Given the description of an element on the screen output the (x, y) to click on. 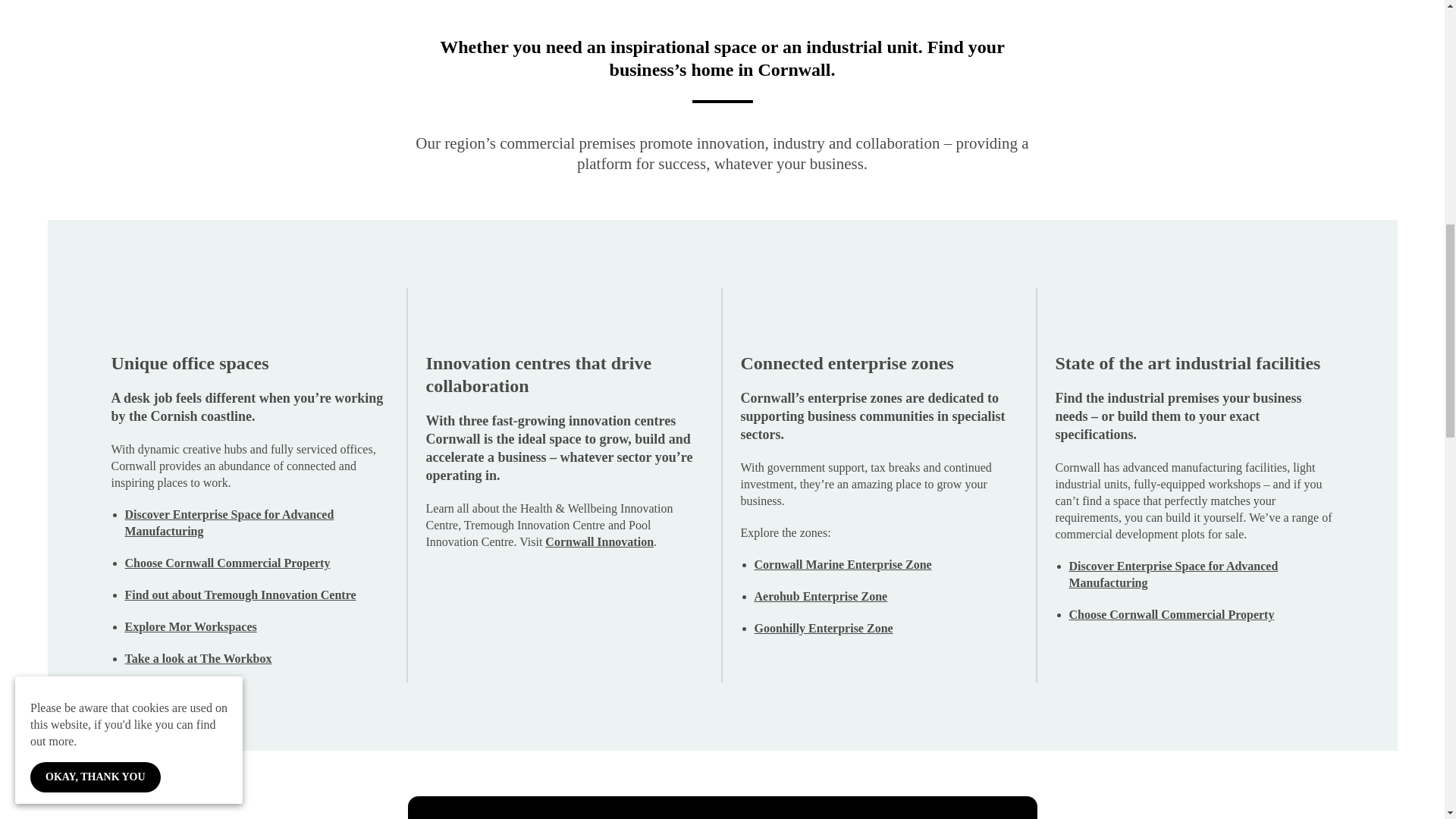
Discover Enterprise Space for Advanced Manufacturing (1173, 573)
Take a look at The Workbox (196, 658)
Find out about Tremough Innovation Centre (239, 594)
Choose Cornwall Commercial Property (226, 562)
Aerohub Enterprise Zone (820, 595)
Goonhilly Enterprise Zone (823, 627)
Cornwall Innovation (598, 541)
Cornwall Marine Enterprise Zone (842, 563)
Choose Cornwall Commercial Property (1171, 614)
Explore Mor Workspaces (189, 626)
